Given the description of an element on the screen output the (x, y) to click on. 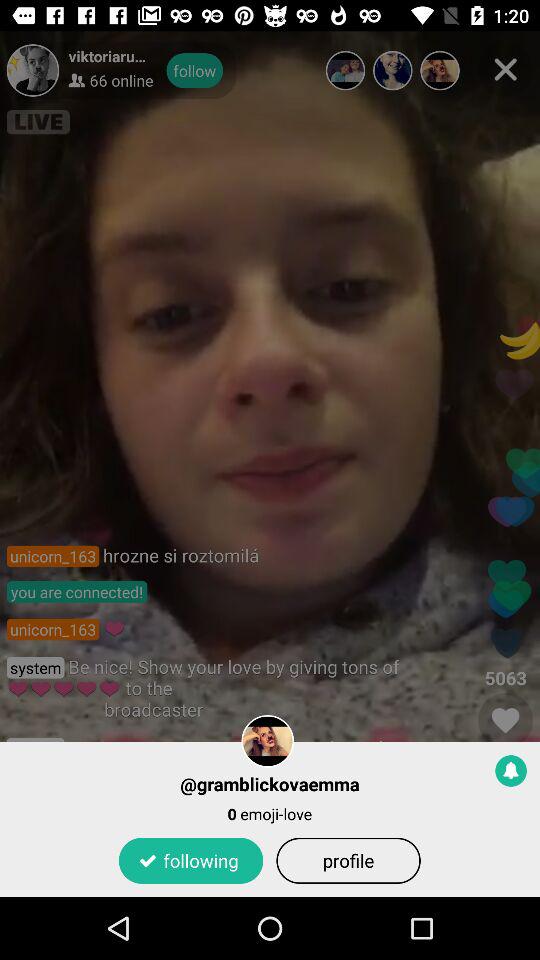
select following item (190, 860)
